Given the description of an element on the screen output the (x, y) to click on. 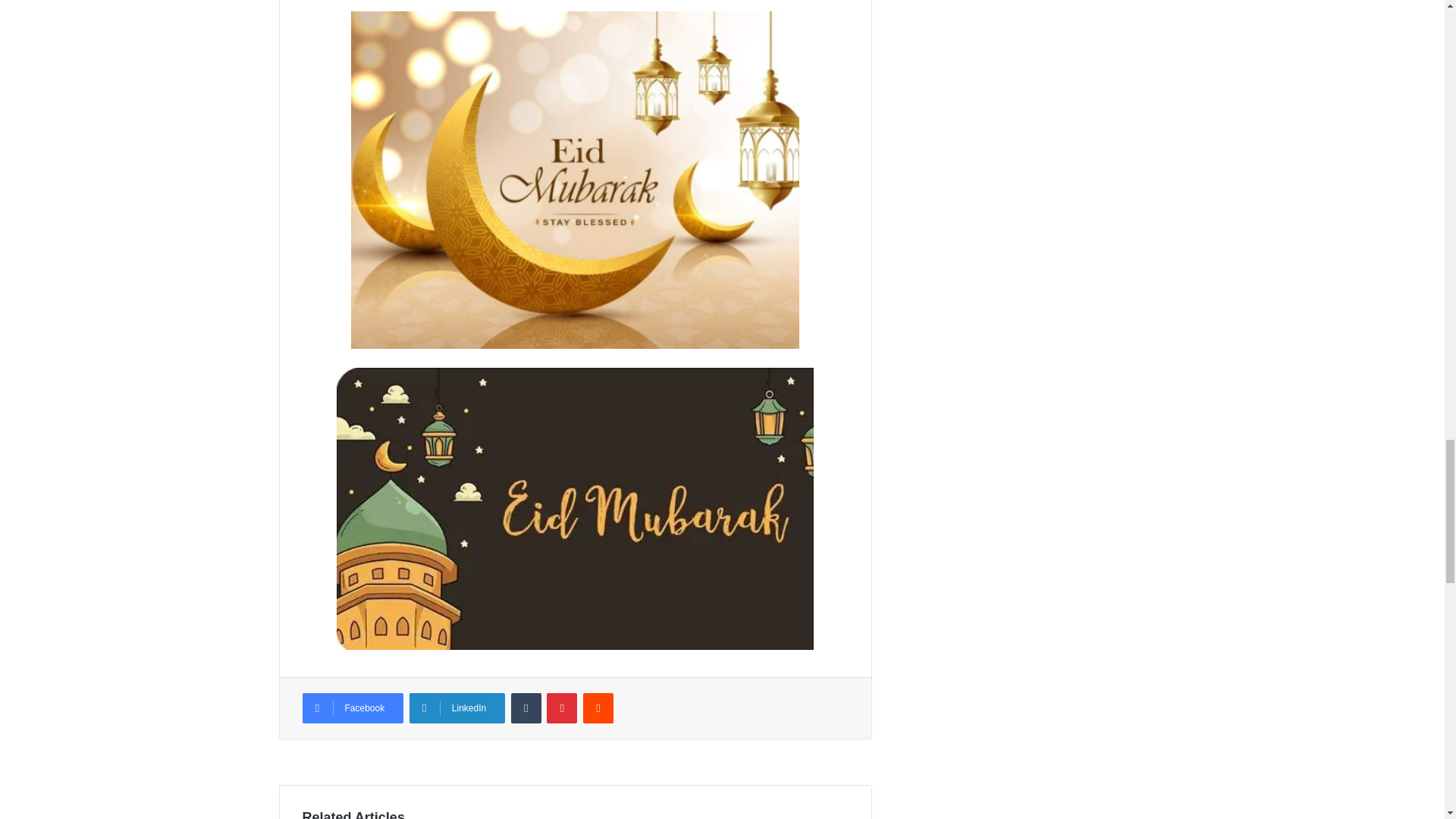
Reddit (597, 707)
Pinterest (561, 707)
Tumblr (526, 707)
Pinterest (561, 707)
LinkedIn (457, 707)
Facebook (352, 707)
Facebook (352, 707)
Reddit (597, 707)
Tumblr (526, 707)
LinkedIn (457, 707)
